Given the description of an element on the screen output the (x, y) to click on. 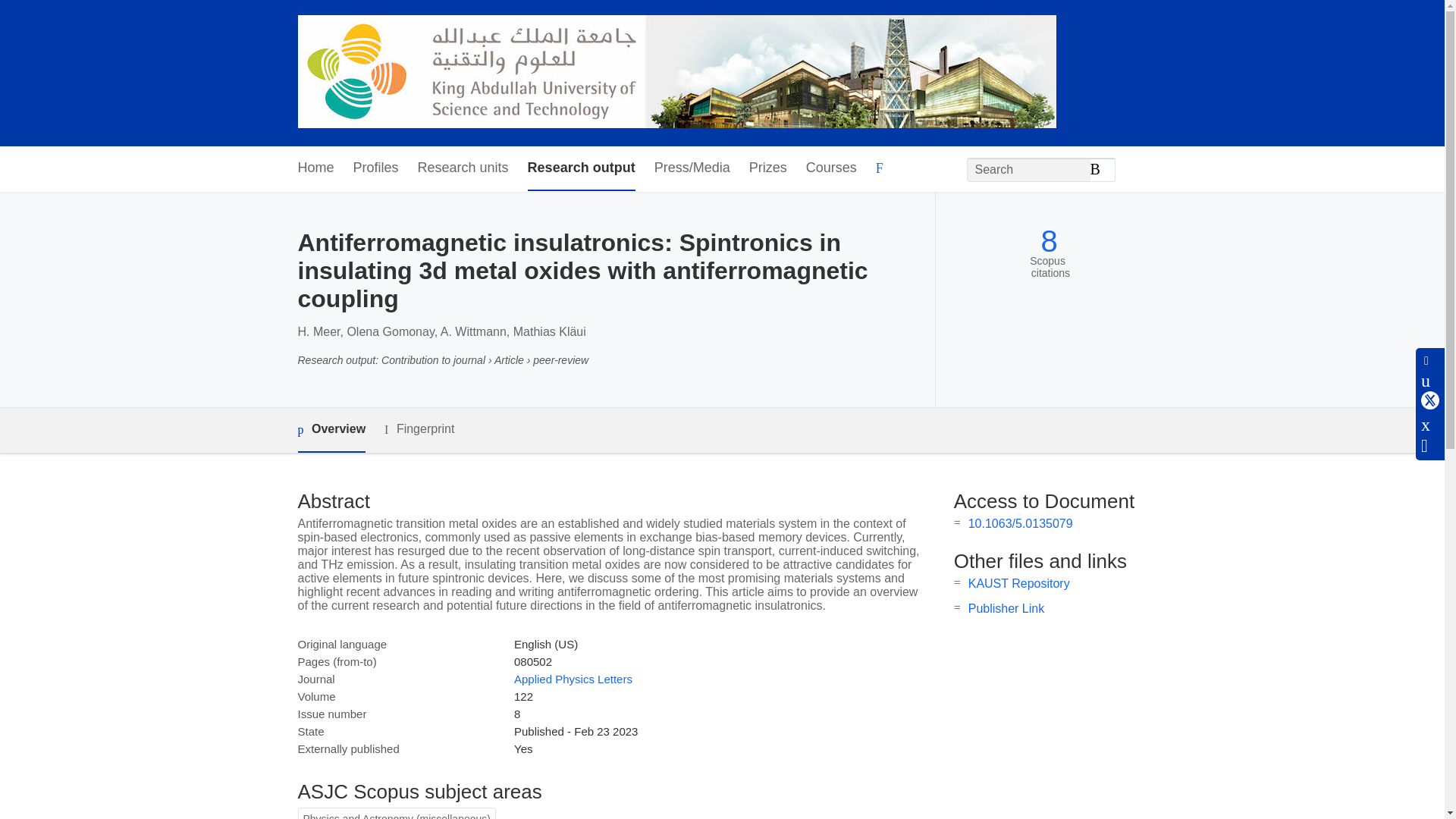
Research output (580, 168)
KAUST Repository (1019, 583)
KAUST FACULTY PORTAL Home (676, 73)
Publisher Link (1006, 608)
Profiles (375, 168)
Research units (462, 168)
Overview (331, 429)
Applied Physics Letters (572, 678)
Courses (831, 168)
